Given the description of an element on the screen output the (x, y) to click on. 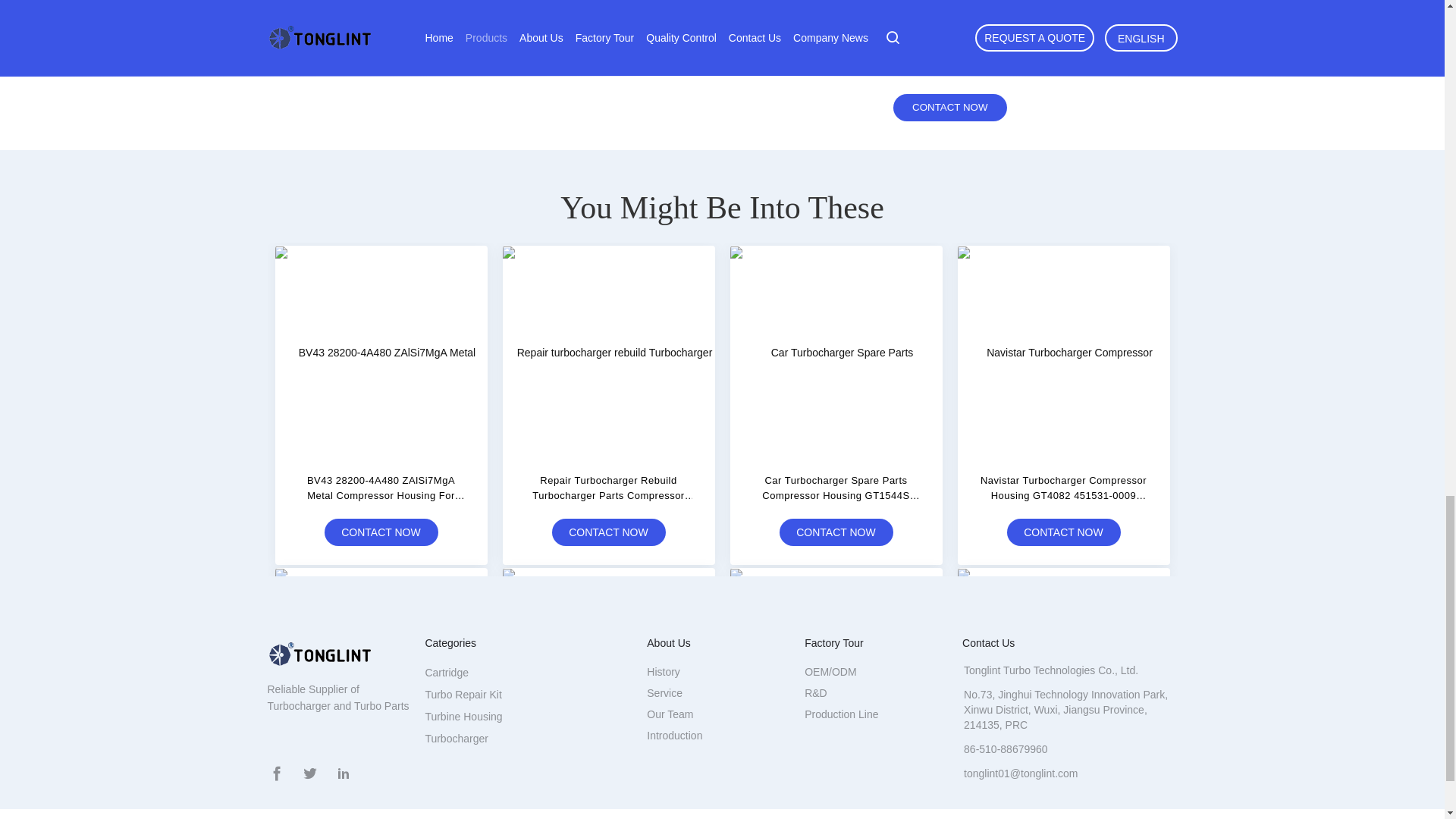
CONTACT NOW (381, 532)
Contact Now (949, 107)
Contact Now (949, 107)
